Given the description of an element on the screen output the (x, y) to click on. 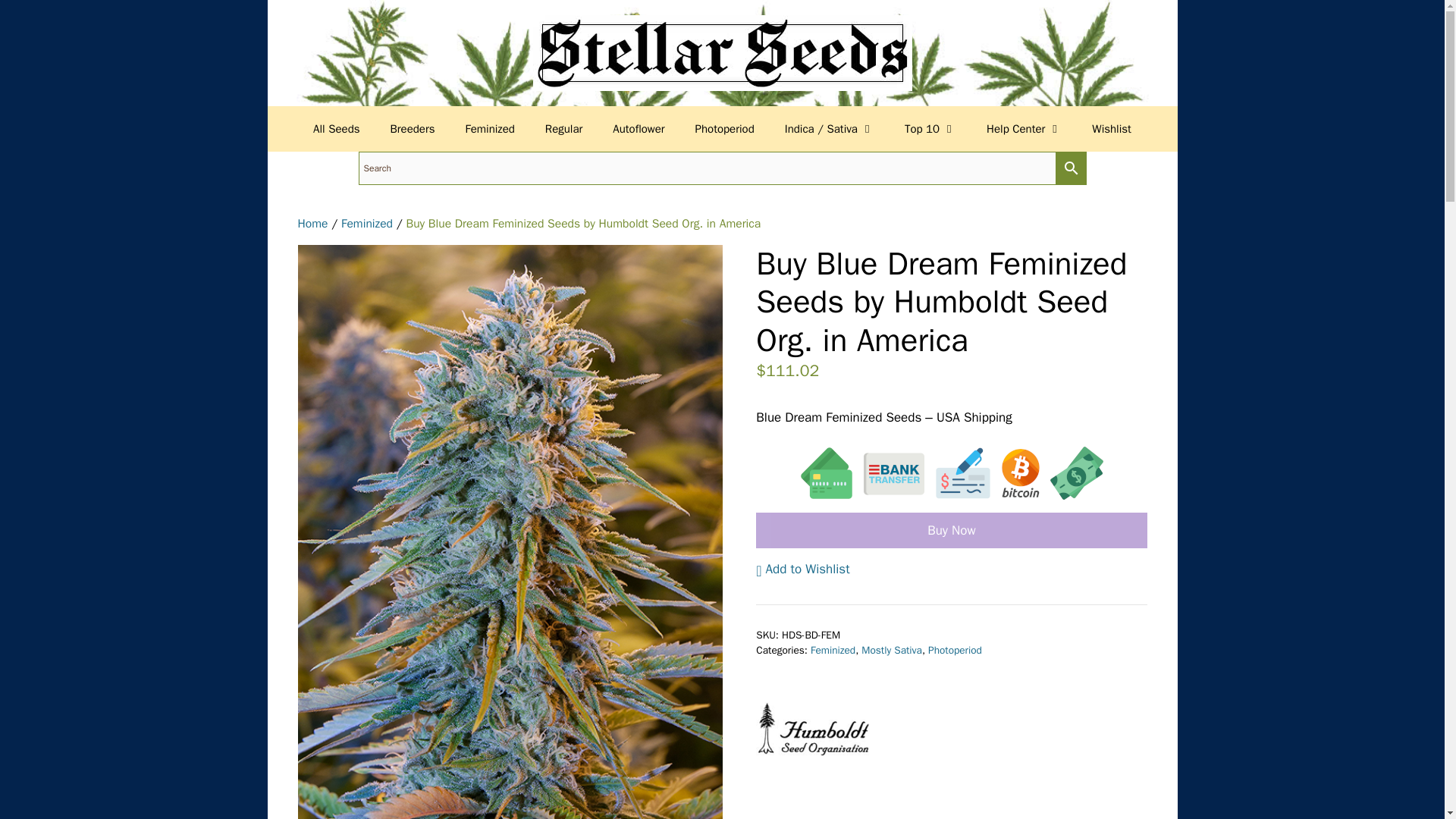
Photoperiod (724, 128)
Top 10 (930, 128)
Feminized (489, 128)
All Seeds (336, 128)
Regular (562, 128)
Breeders (412, 128)
Humboldt Seed Org. (812, 731)
Autoflower (637, 128)
